Given the description of an element on the screen output the (x, y) to click on. 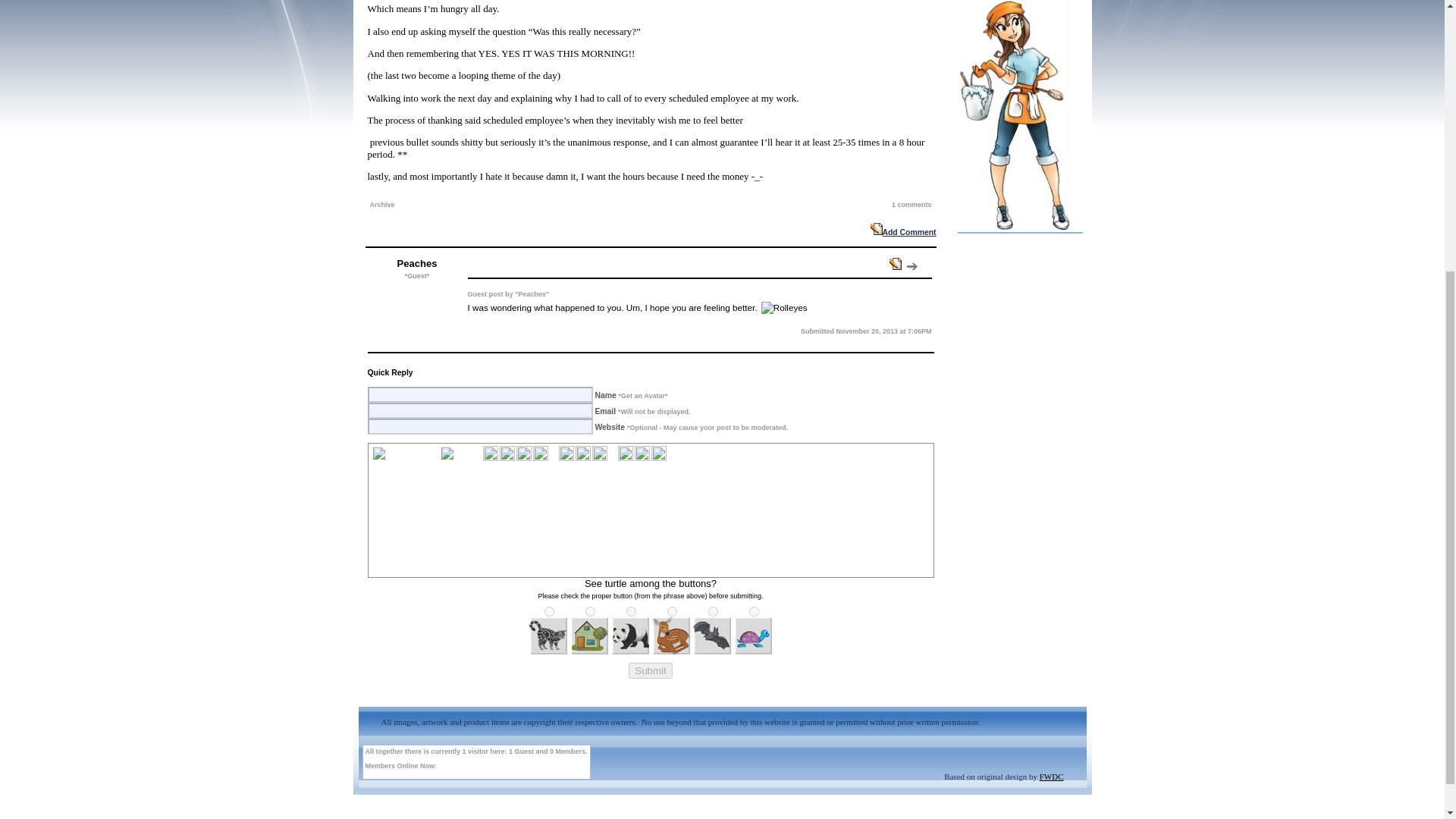
Reply (912, 266)
Underline (523, 453)
Submit (649, 670)
6xw4ay (590, 611)
Bold (489, 453)
Quote (895, 263)
Archive (381, 204)
a86D7 (753, 611)
P6E8G (671, 611)
Justifyleft (565, 453)
Italic (506, 453)
41jf39ZZ (549, 611)
4iH93eYd (712, 611)
Justifyright (599, 453)
Create Link (641, 453)
